Given the description of an element on the screen output the (x, y) to click on. 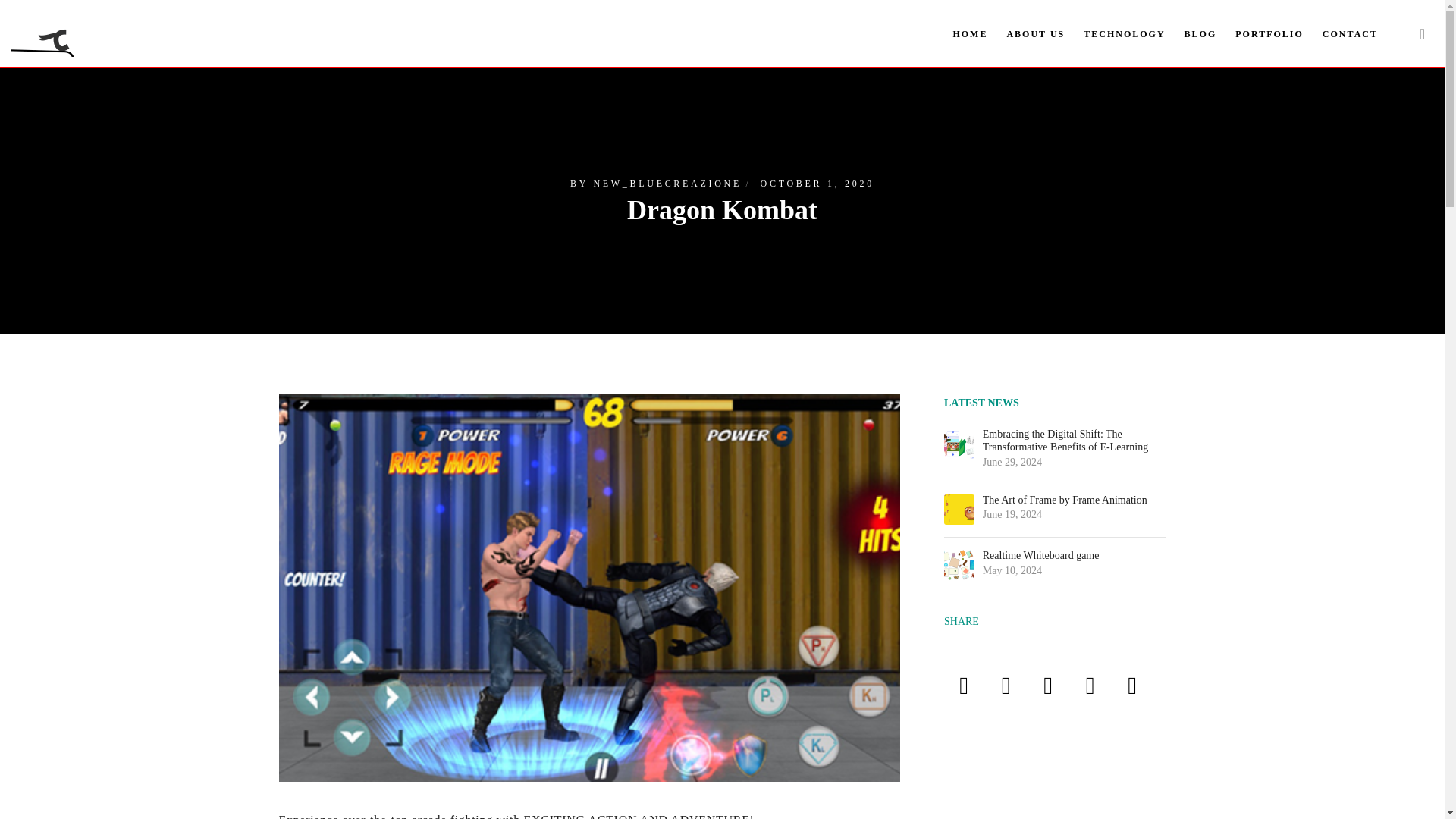
Realtime Whiteboard game (1074, 555)
TECHNOLOGY (1114, 33)
ABOUT US (1025, 33)
CONTACT (1340, 33)
The Art of Frame by Frame Animation (1074, 500)
PORTFOLIO (1259, 33)
